Given the description of an element on the screen output the (x, y) to click on. 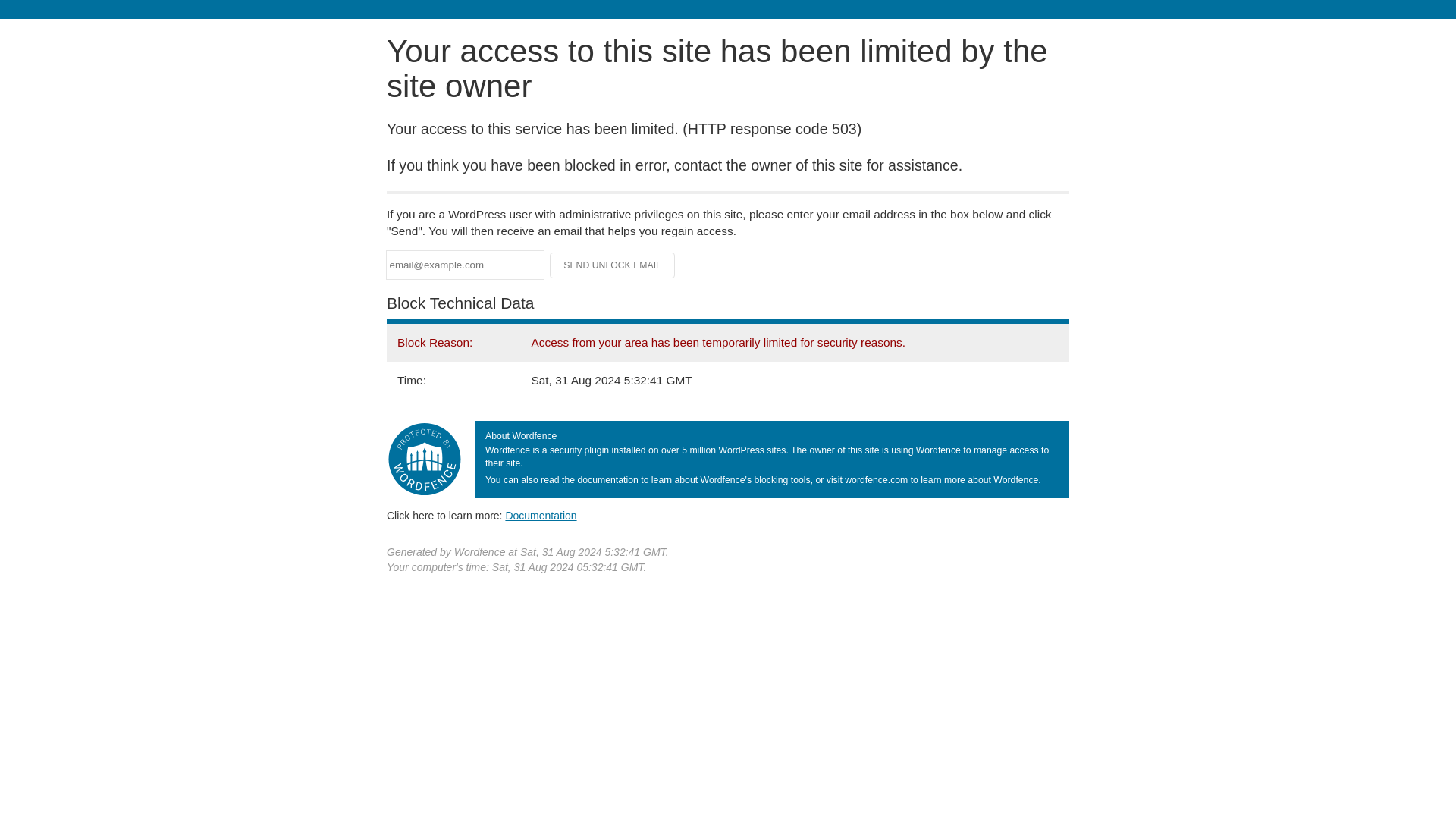
Documentation (540, 515)
Send Unlock Email (612, 265)
Send Unlock Email (612, 265)
